Given the description of an element on the screen output the (x, y) to click on. 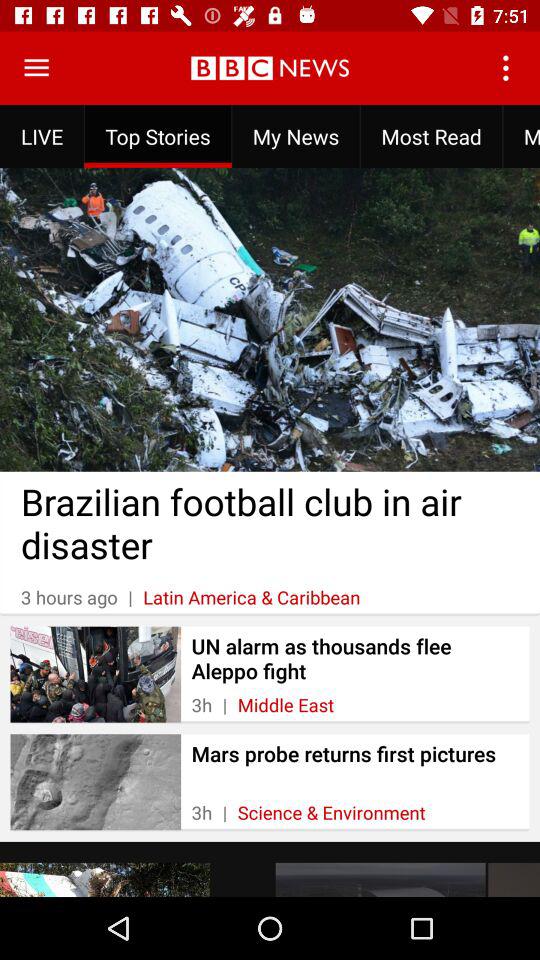
turn on icon next to top stories (295, 136)
